Given the description of an element on the screen output the (x, y) to click on. 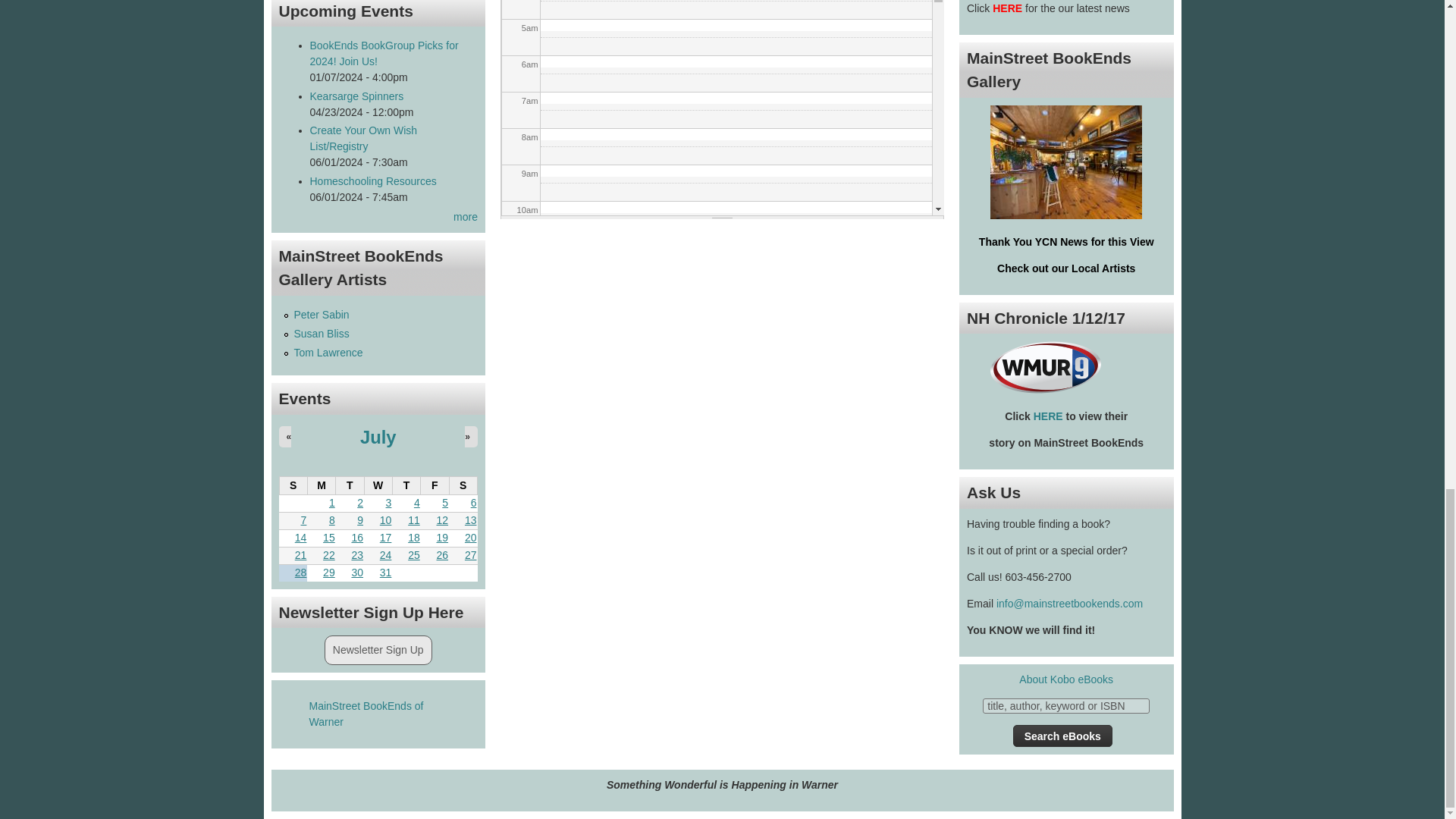
Search eBooks (1062, 735)
title, author, keyword or ISBN (1066, 705)
